Given the description of an element on the screen output the (x, y) to click on. 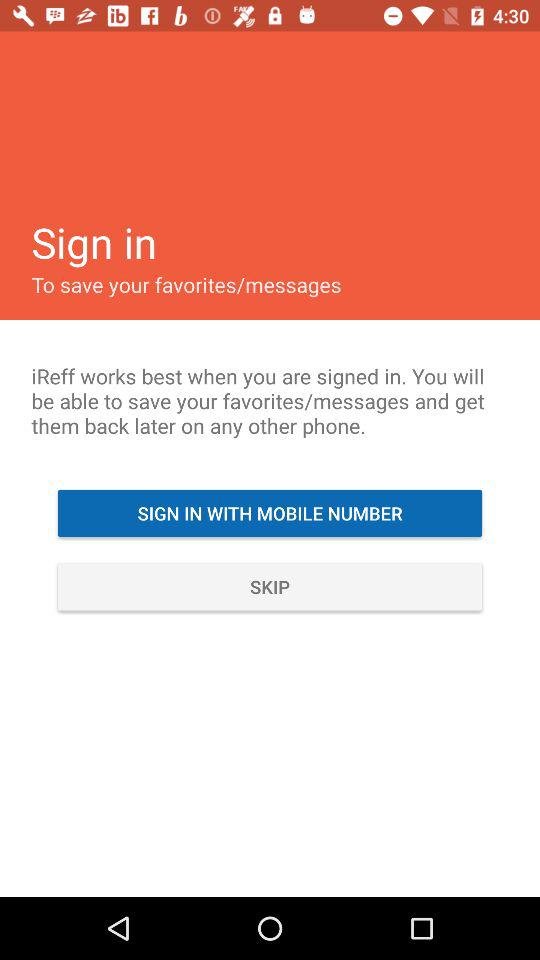
swipe to skip item (269, 586)
